Given the description of an element on the screen output the (x, y) to click on. 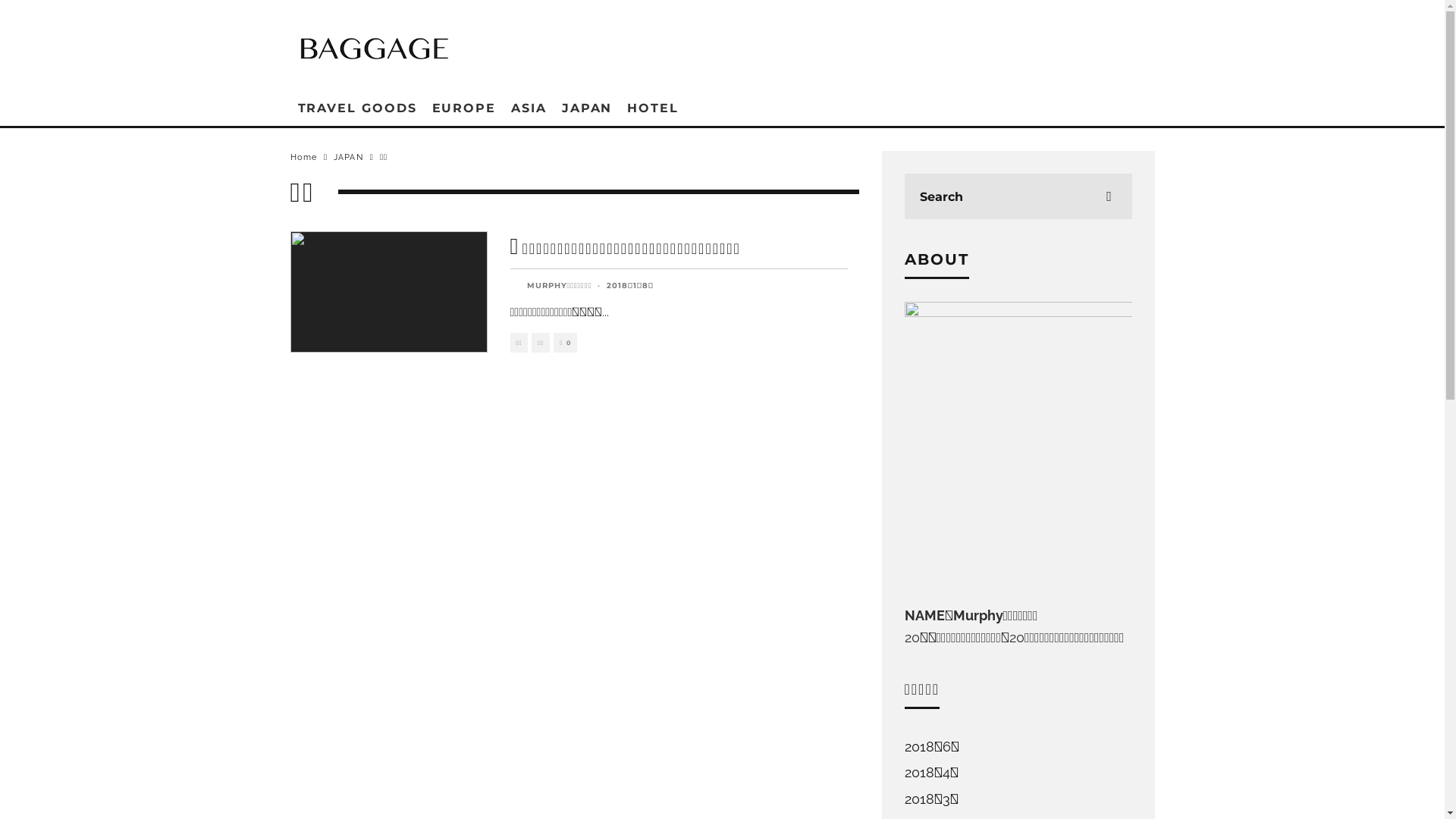
JAPAN Element type: text (348, 157)
Home Element type: text (302, 157)
ASIA Element type: text (528, 108)
EUROPE Element type: text (464, 108)
0 Element type: text (565, 342)
TRAVEL GOODS Element type: text (356, 108)
JAPAN Element type: text (587, 108)
HOTEL Element type: text (652, 108)
